Given the description of an element on the screen output the (x, y) to click on. 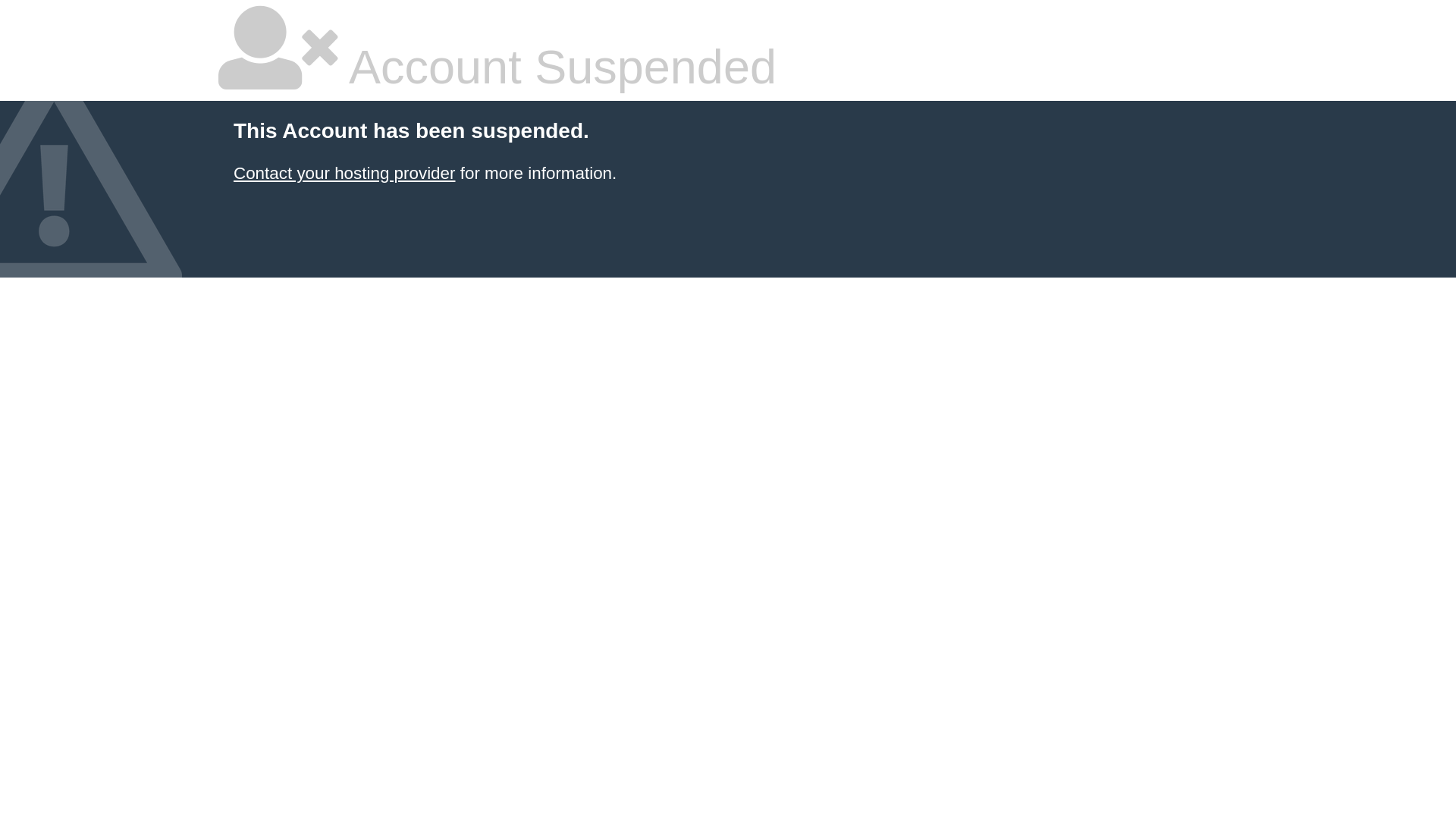
Contact your hosting provider Element type: text (344, 172)
